Given the description of an element on the screen output the (x, y) to click on. 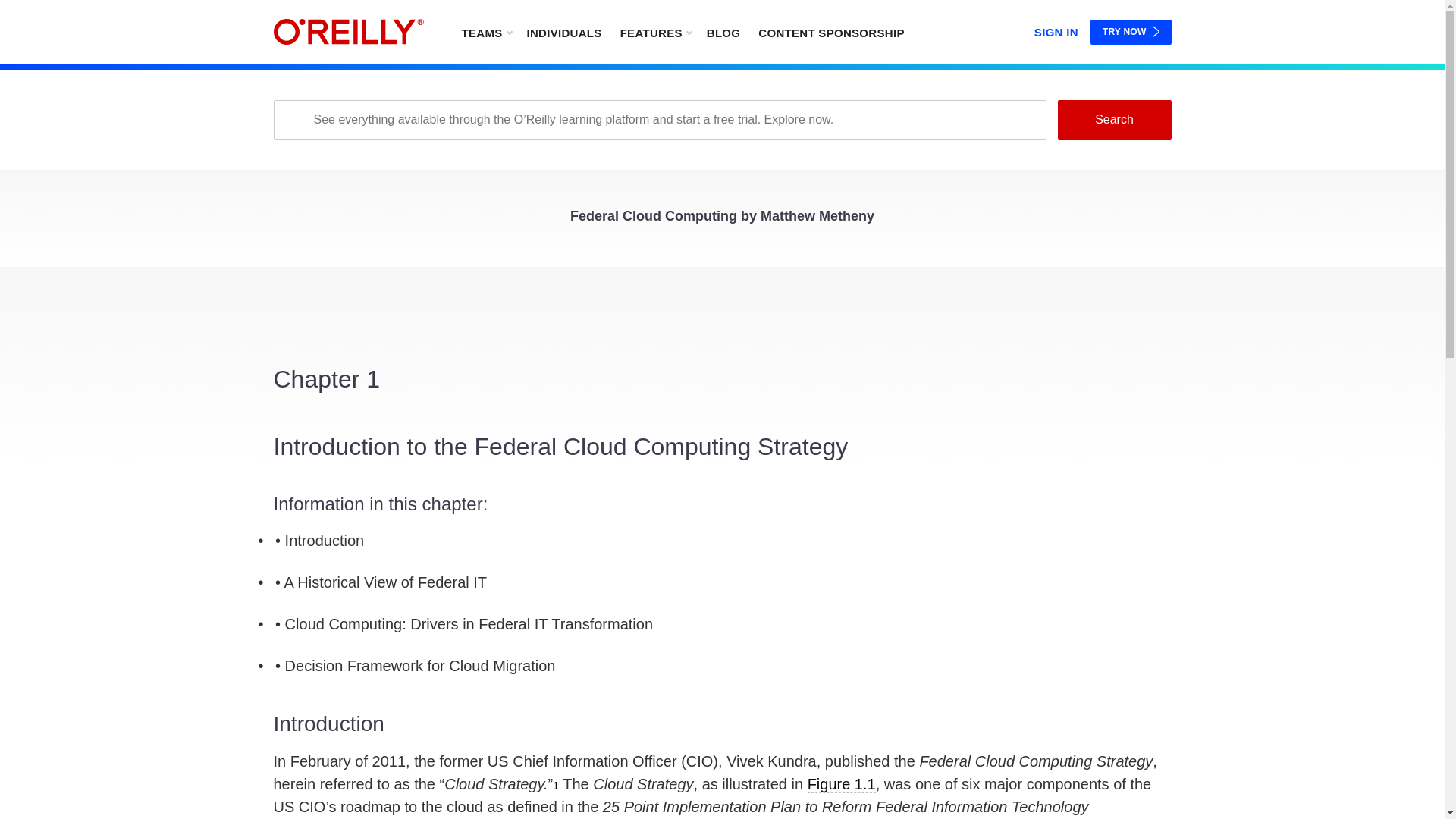
Figure 1.1 (842, 784)
BLOG (723, 31)
Search (1113, 119)
INDIVIDUALS (563, 31)
Search (1113, 119)
TRY NOW (1131, 32)
CONTENT SPONSORSHIP (831, 31)
SIGN IN (1055, 29)
TEAMS (486, 31)
Search (1113, 119)
Federal Cloud Computing by Matthew Metheny (722, 219)
home page (348, 31)
FEATURES (655, 31)
